Given the description of an element on the screen output the (x, y) to click on. 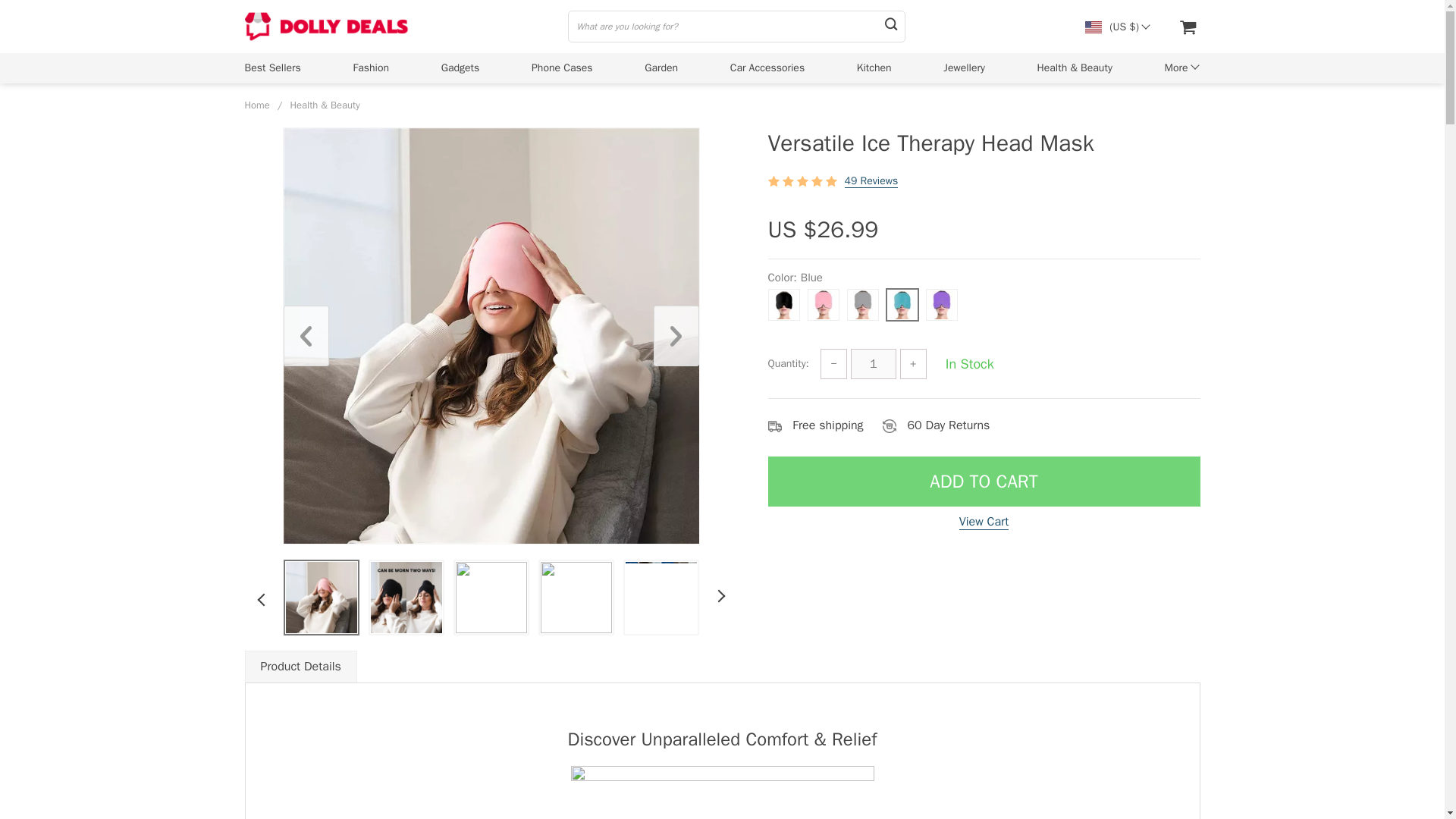
Phone Cases (561, 67)
Kitchen (874, 67)
Garden (661, 67)
Color:Blue (983, 300)
Car Accessories (767, 67)
Fashion (371, 67)
27625-c5b520.jpeg (405, 597)
Jewellery (964, 67)
Best Sellers (271, 67)
1 (873, 363)
